Given the description of an element on the screen output the (x, y) to click on. 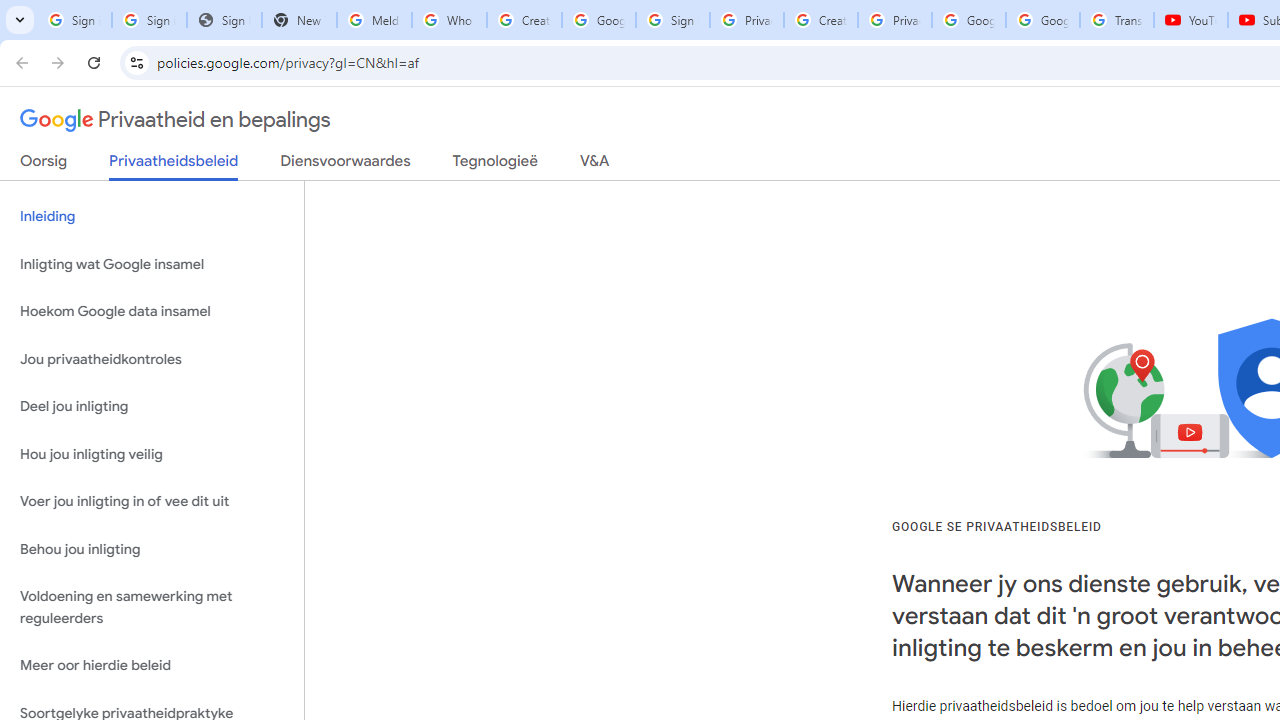
Jou privaatheidkontroles (152, 358)
Voldoening en samewerking met reguleerders (152, 607)
Behou jou inligting (152, 548)
Sign in - Google Accounts (148, 20)
Inligting wat Google insamel (152, 263)
Deel jou inligting (152, 407)
Diensvoorwaardes (345, 165)
Privaatheid en bepalings (175, 120)
